Given the description of an element on the screen output the (x, y) to click on. 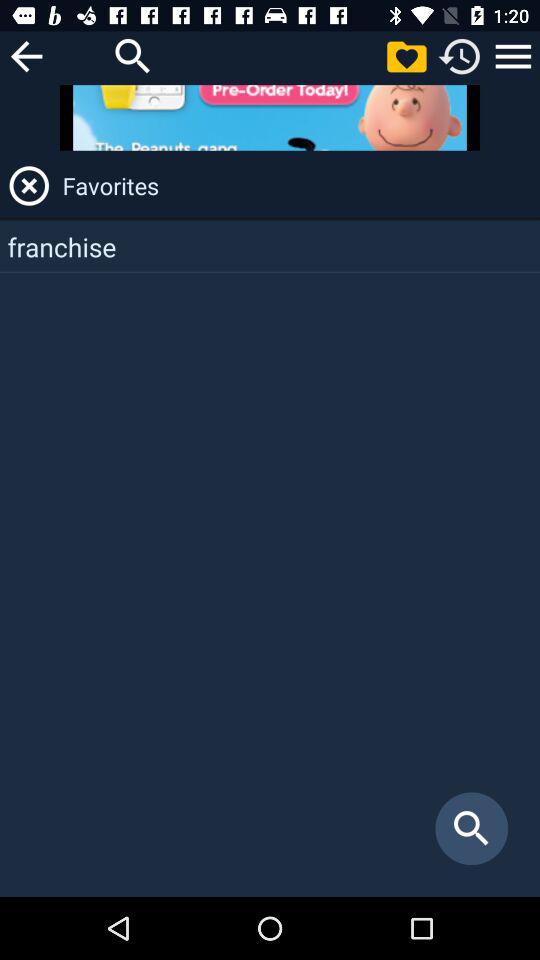
do a search for something (133, 56)
